Given the description of an element on the screen output the (x, y) to click on. 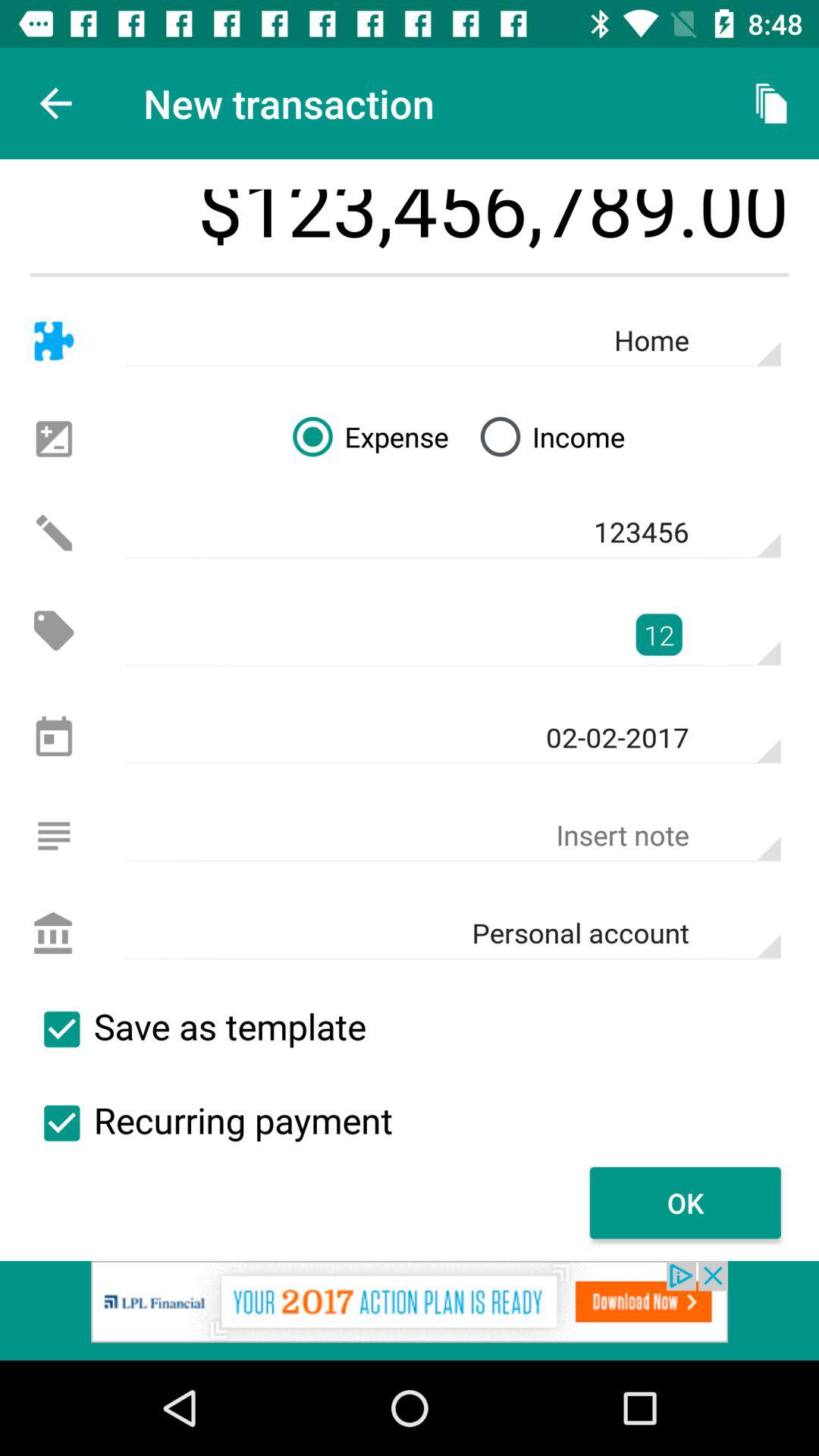
enter the personal account information (53, 933)
